Given the description of an element on the screen output the (x, y) to click on. 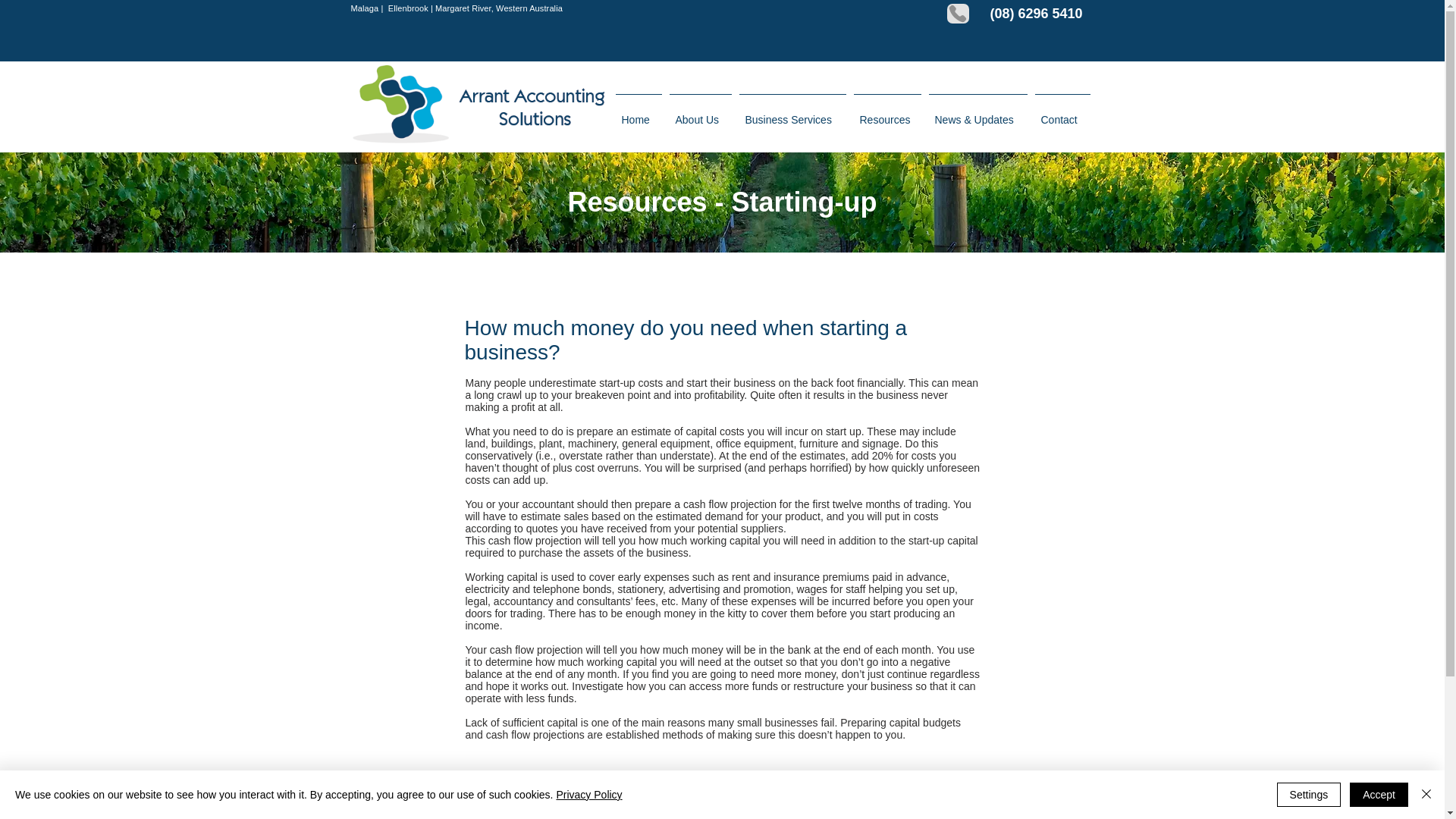
logo-website.gif (480, 107)
Home (638, 112)
WE CAN HELP YOU AND YOUR BUSINESS (854, 816)
Privacy Policy (588, 794)
About Us (700, 112)
Next (943, 775)
Contact (1062, 112)
Previous (515, 775)
Settings (1308, 794)
Business Services (792, 112)
